Given the description of an element on the screen output the (x, y) to click on. 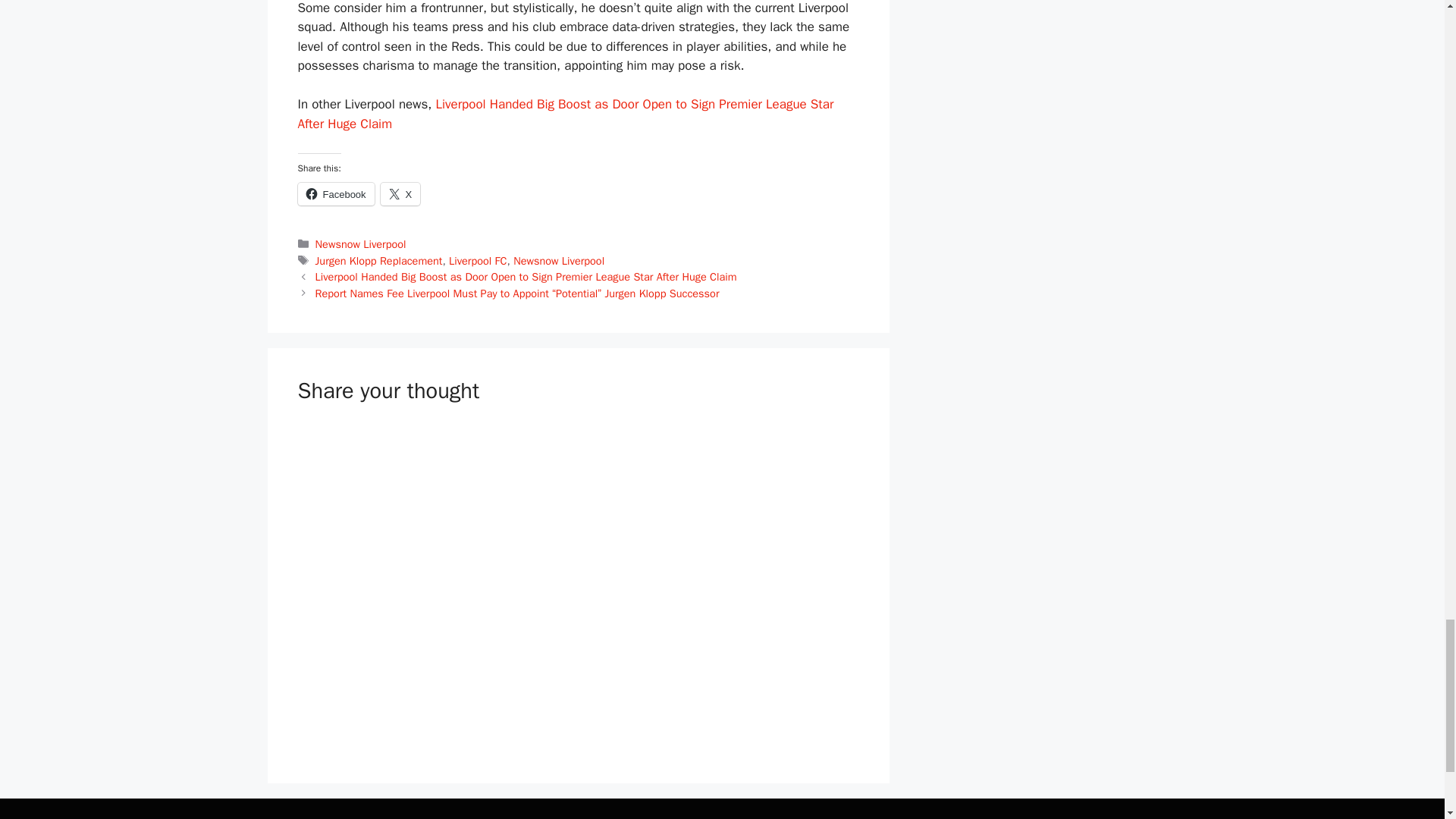
Liverpool FC (477, 260)
X (400, 193)
Newsnow Liverpool (558, 260)
Jurgen Klopp Replacement (378, 260)
Newsnow Liverpool (360, 243)
Facebook (335, 193)
Click to share on Facebook (335, 193)
